Given the description of an element on the screen output the (x, y) to click on. 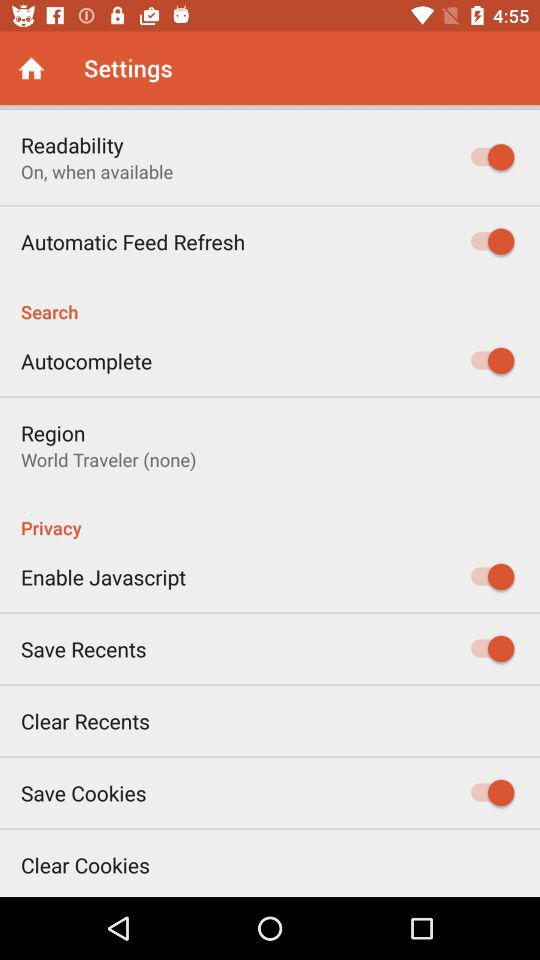
press icon below the on, when available item (133, 241)
